Given the description of an element on the screen output the (x, y) to click on. 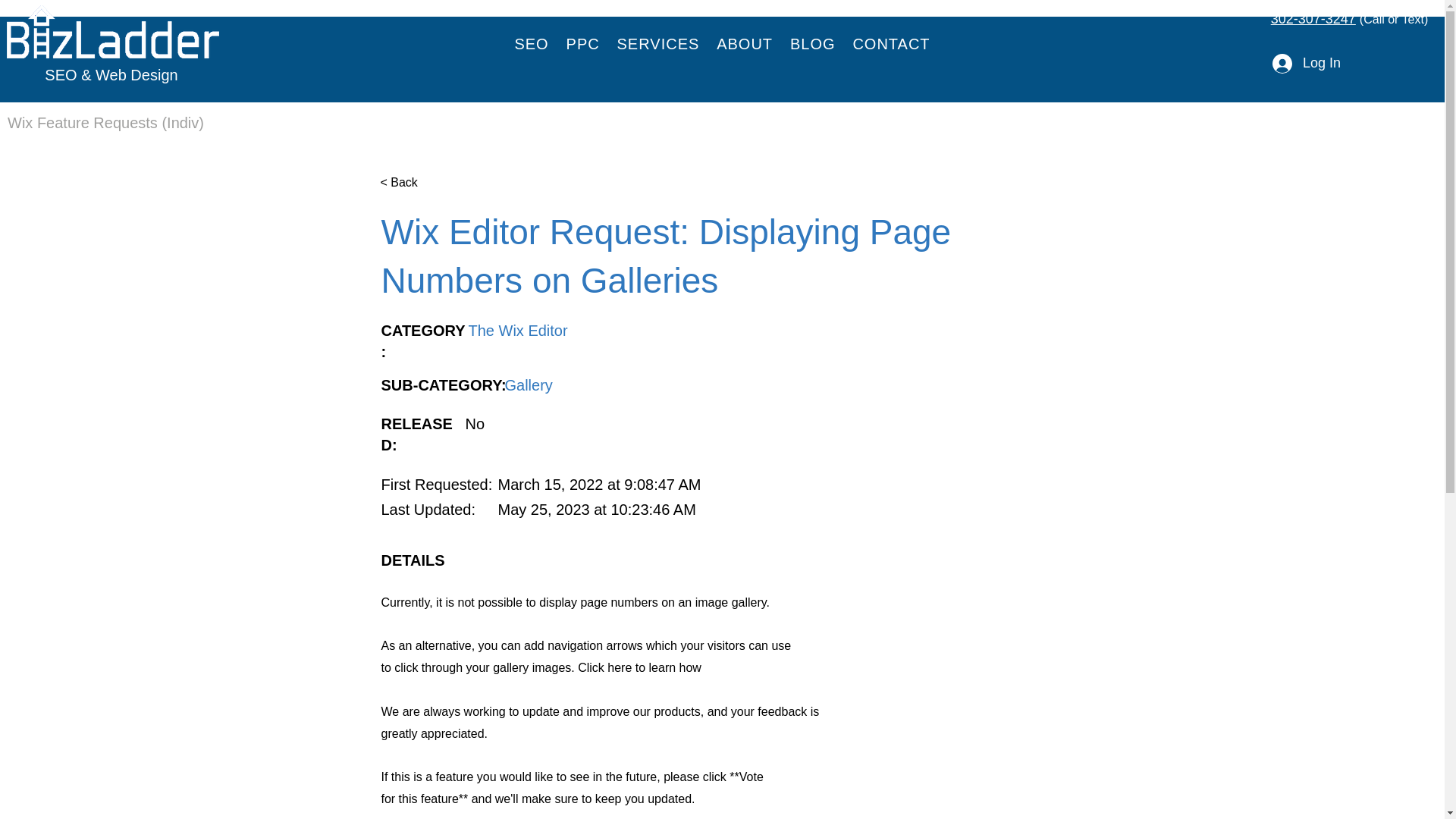
Log In (1306, 63)
SERVICES (657, 43)
BLOG (812, 43)
ABOUT (744, 43)
PPC (582, 43)
SEO (531, 43)
302-307-3247 (1313, 18)
CONTACT (891, 43)
